Given the description of an element on the screen output the (x, y) to click on. 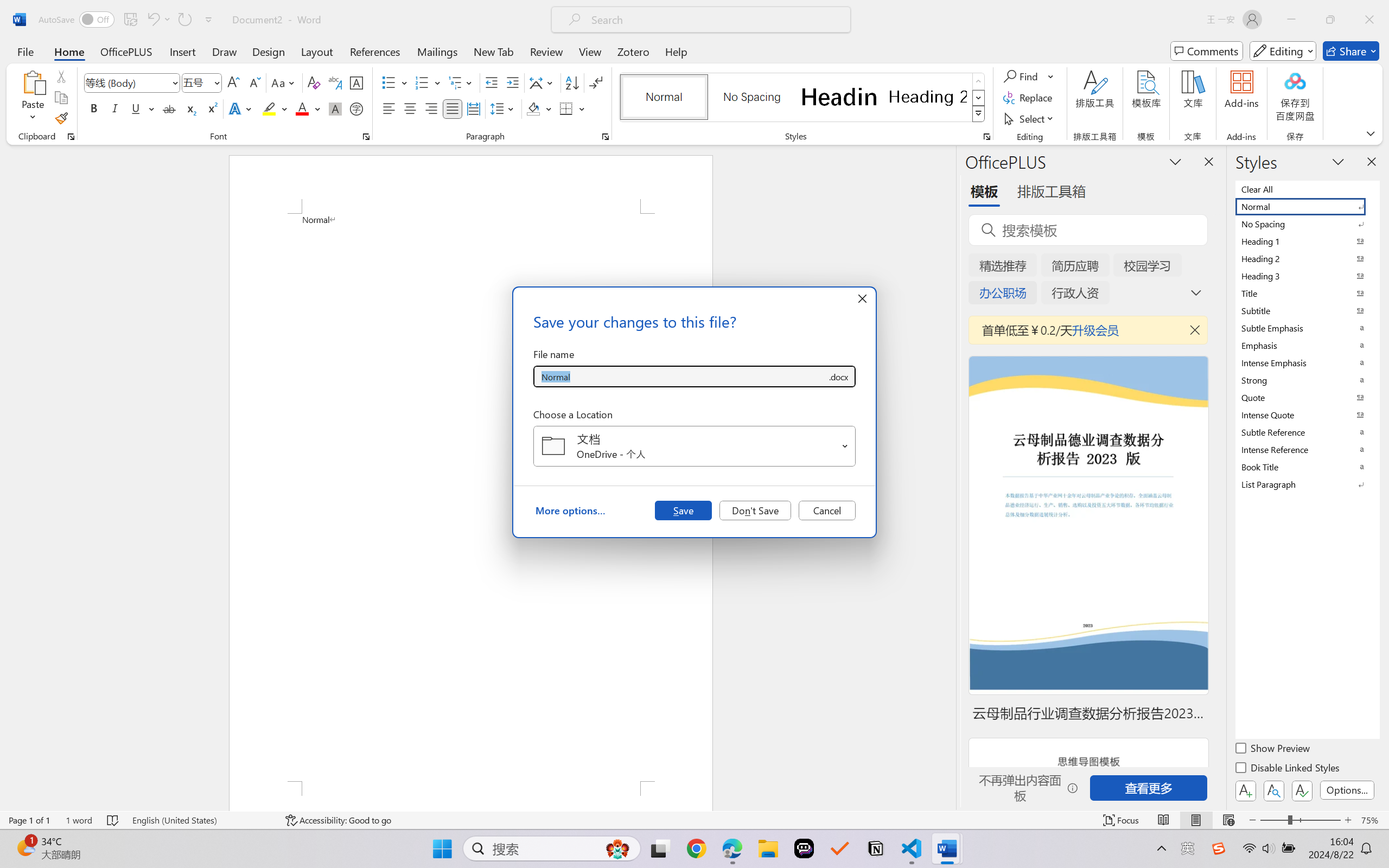
Center (409, 108)
Multilevel List (461, 82)
Choose a Location (694, 446)
Find (1029, 75)
Underline (135, 108)
Intense Emphasis (1306, 362)
Shading RGB(0, 0, 0) (533, 108)
Mailings (437, 51)
Repeat Style (184, 19)
Title (1306, 293)
References (375, 51)
